Given the description of an element on the screen output the (x, y) to click on. 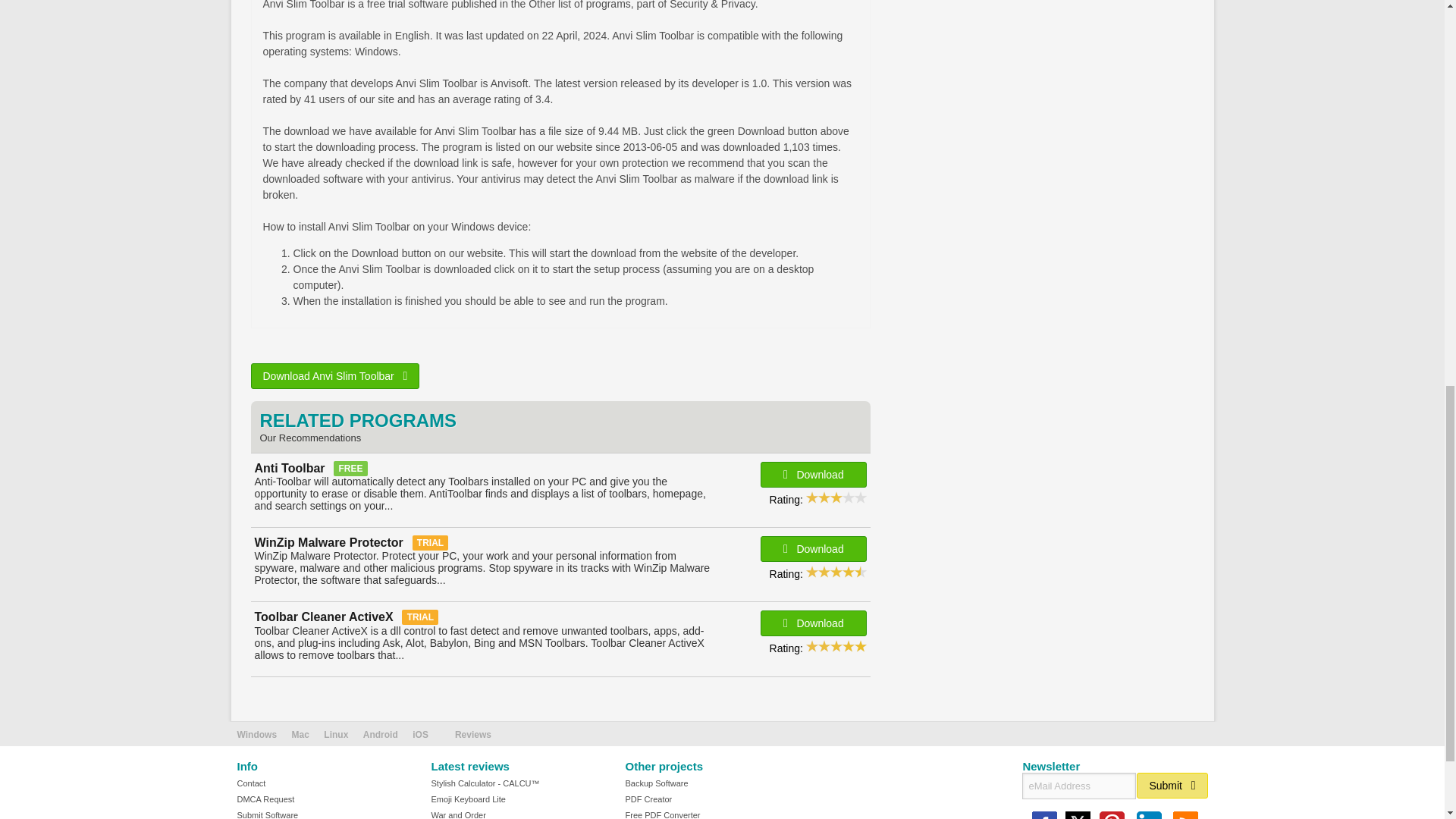
Reviews (473, 734)
Mac (300, 734)
  Download (813, 623)
iOS (420, 734)
Windows (255, 734)
  Download (813, 548)
  Download (813, 474)
Mac (300, 734)
